Given the description of an element on the screen output the (x, y) to click on. 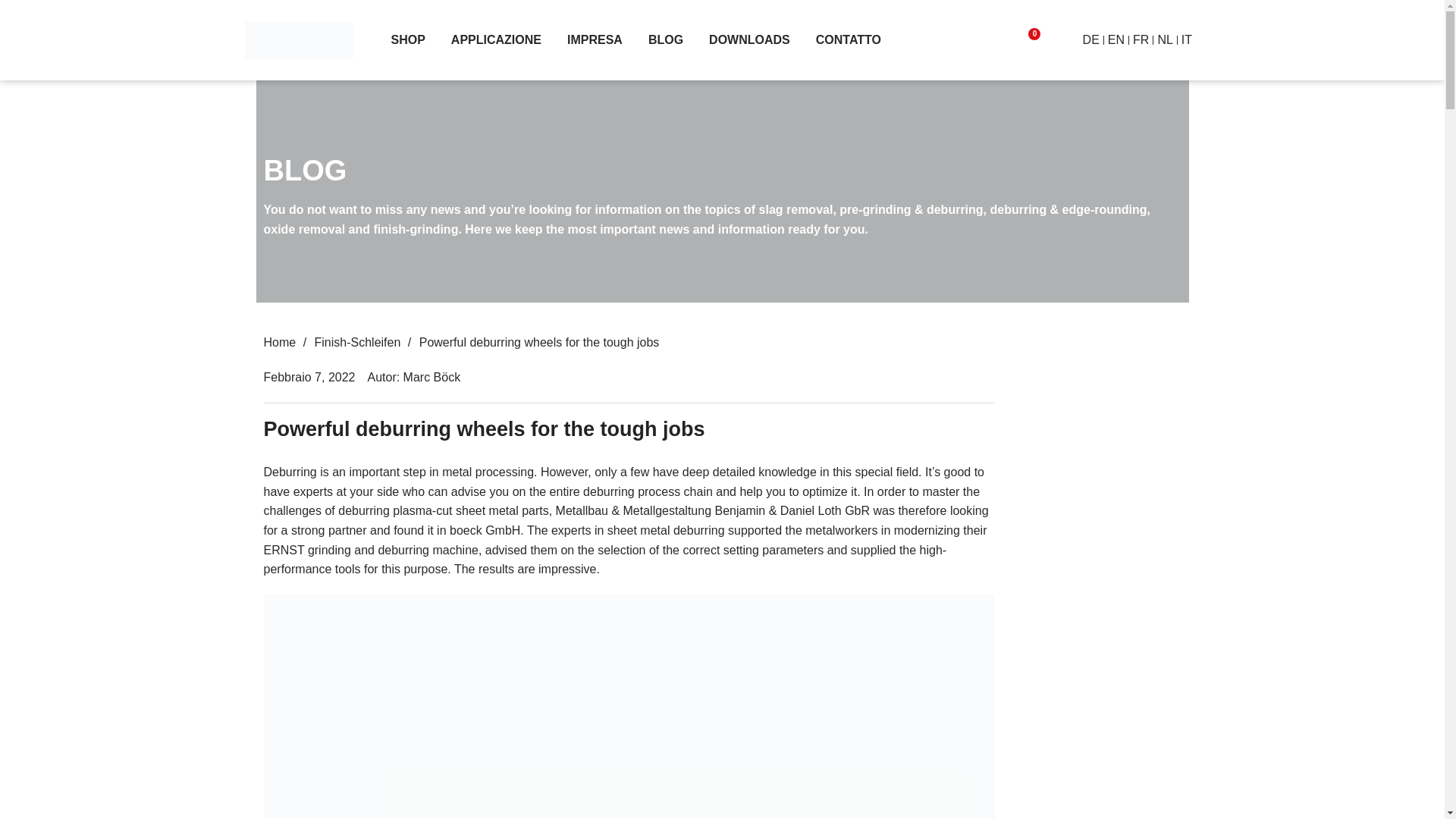
DOWNLOADS (749, 39)
IMPRESA (594, 39)
NL (1164, 39)
DE (1091, 39)
SHOP (407, 39)
EN (1116, 39)
IT (1186, 39)
BLOG (664, 39)
0 (1026, 39)
APPLICAZIONE (496, 39)
FR (1140, 39)
CONTATTO (848, 39)
